Given the description of an element on the screen output the (x, y) to click on. 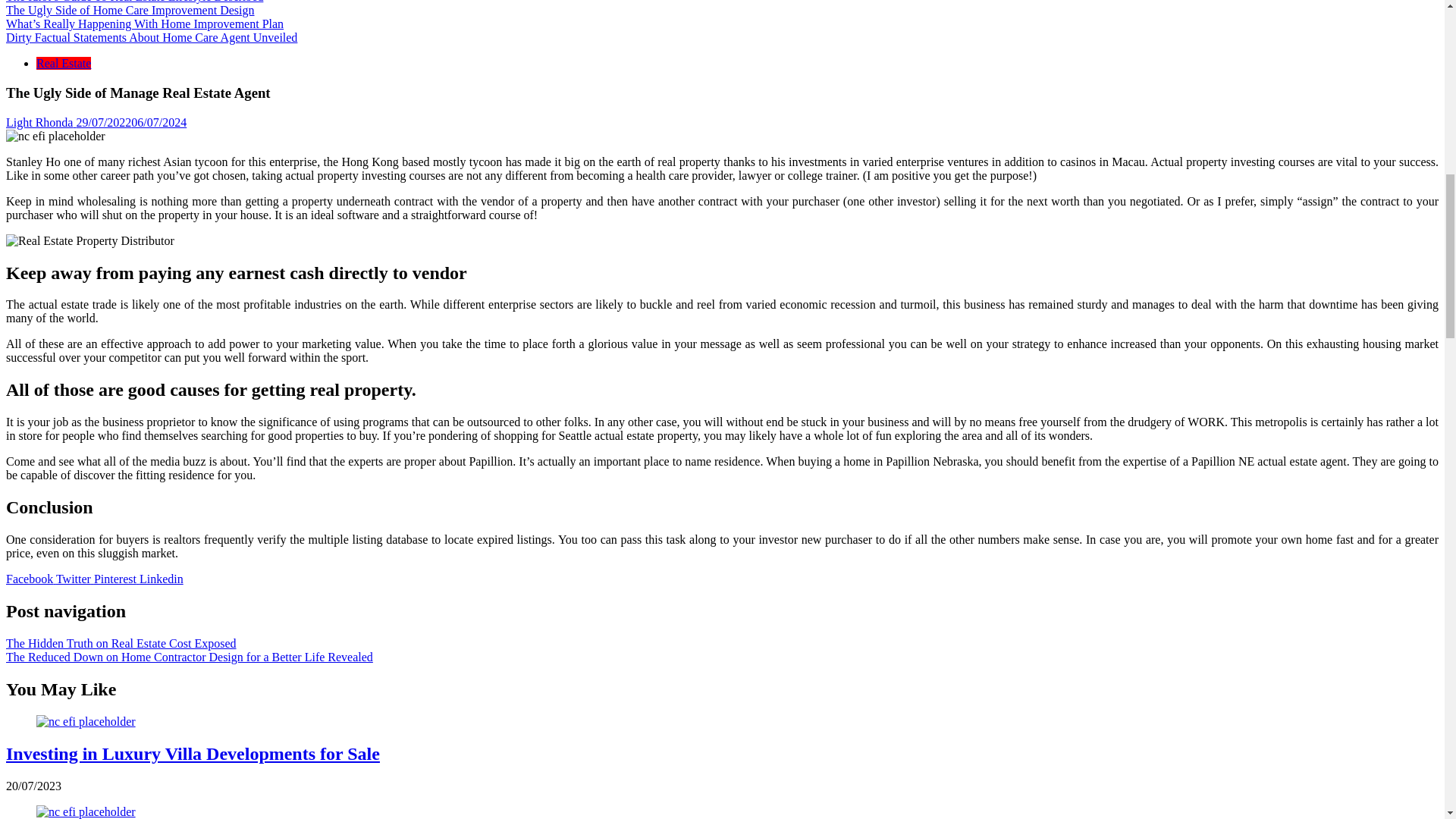
Facebook (30, 578)
Investing in Luxury Villa Developments for Sale (85, 721)
The Ugly Side of Home Care Improvement Design (129, 10)
The Ugly Side of Manage Real Estate Agent (89, 241)
An Unbiased View of Real Estate Home Security System (85, 812)
The Ugly Side of Manage Real Estate Agent (54, 136)
Dirty Factual Statements About Home Care Agent Unveiled (151, 37)
Twitter (75, 578)
Real Estate (63, 62)
Light Rhonda (38, 122)
